Given the description of an element on the screen output the (x, y) to click on. 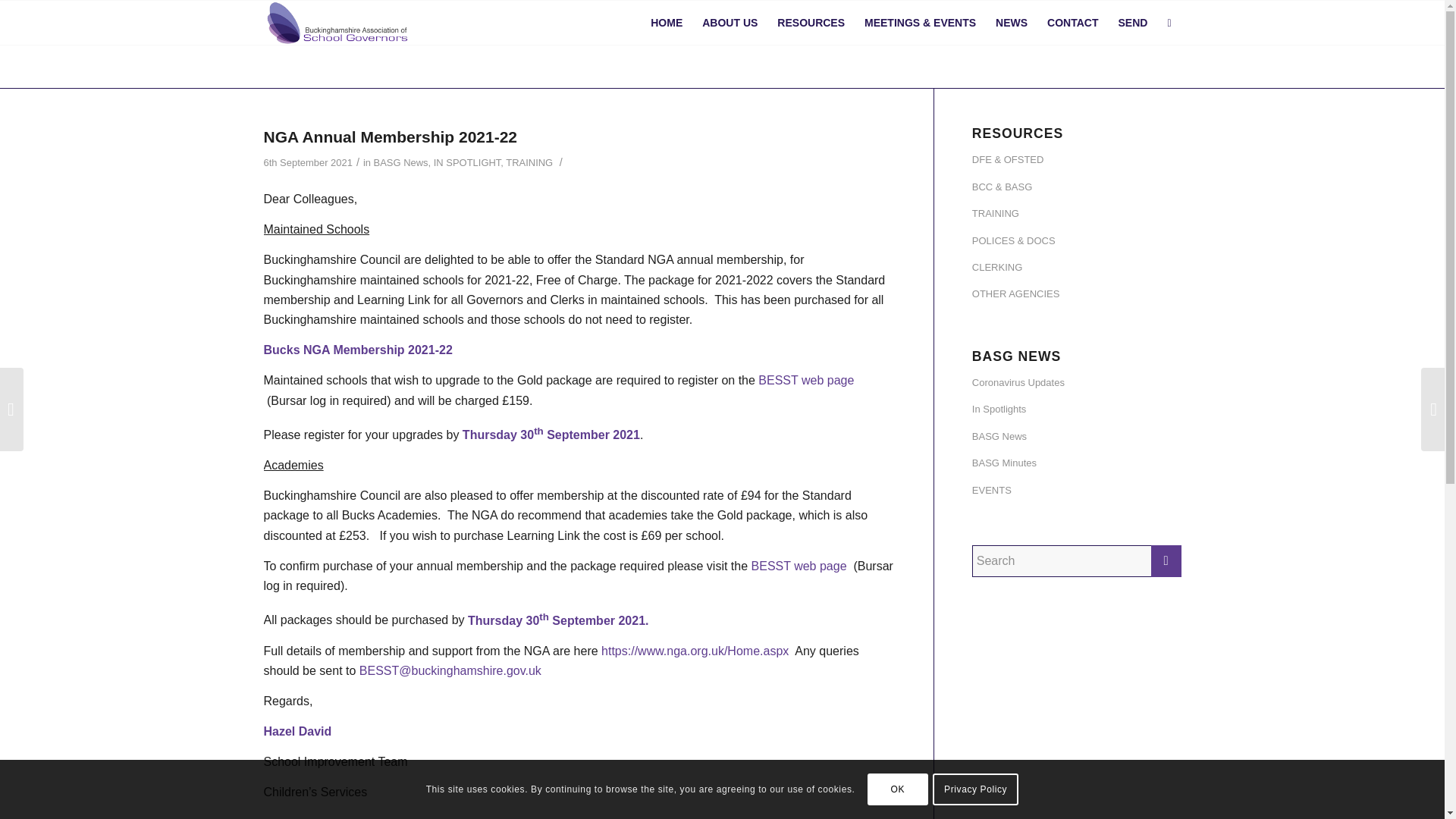
IN SPOTLIGHT (466, 162)
NGA Annual Membership 2021-22 (390, 136)
BESST web page (805, 379)
BASG News (401, 162)
EVENTS (1076, 490)
TRAINING (529, 162)
Coronavirus Updates (1076, 383)
CLERKING (1076, 267)
In Spotlights (1076, 409)
NEWS (1010, 22)
Permanent Link: NGA Annual Membership 2021-22 (390, 136)
HOME (666, 22)
ABOUT US (730, 22)
BESST web page (800, 565)
Bucks NGA Membership 2021-22 (357, 349)
